Given the description of an element on the screen output the (x, y) to click on. 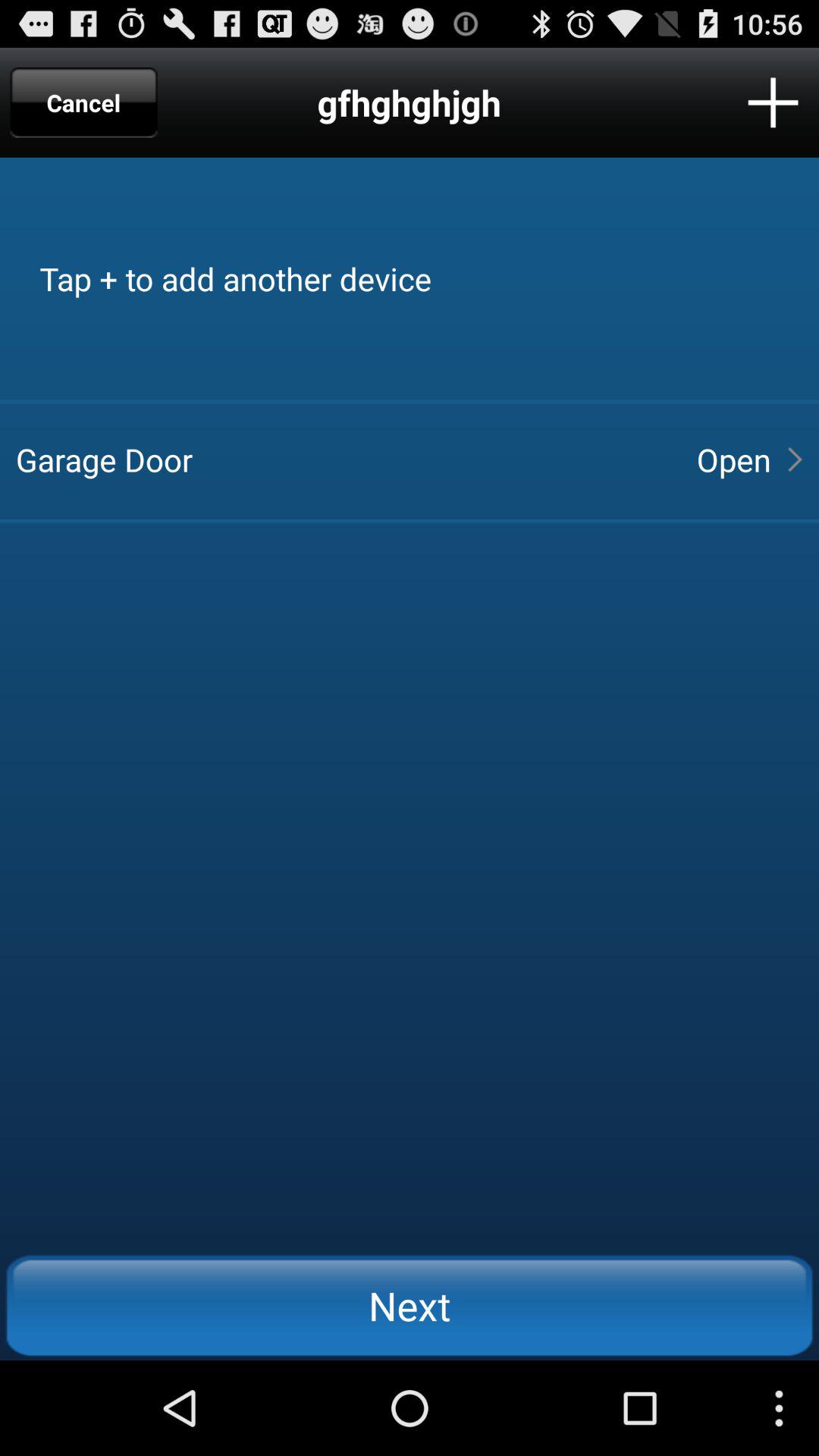
choose icon above the tap to add item (83, 102)
